Given the description of an element on the screen output the (x, y) to click on. 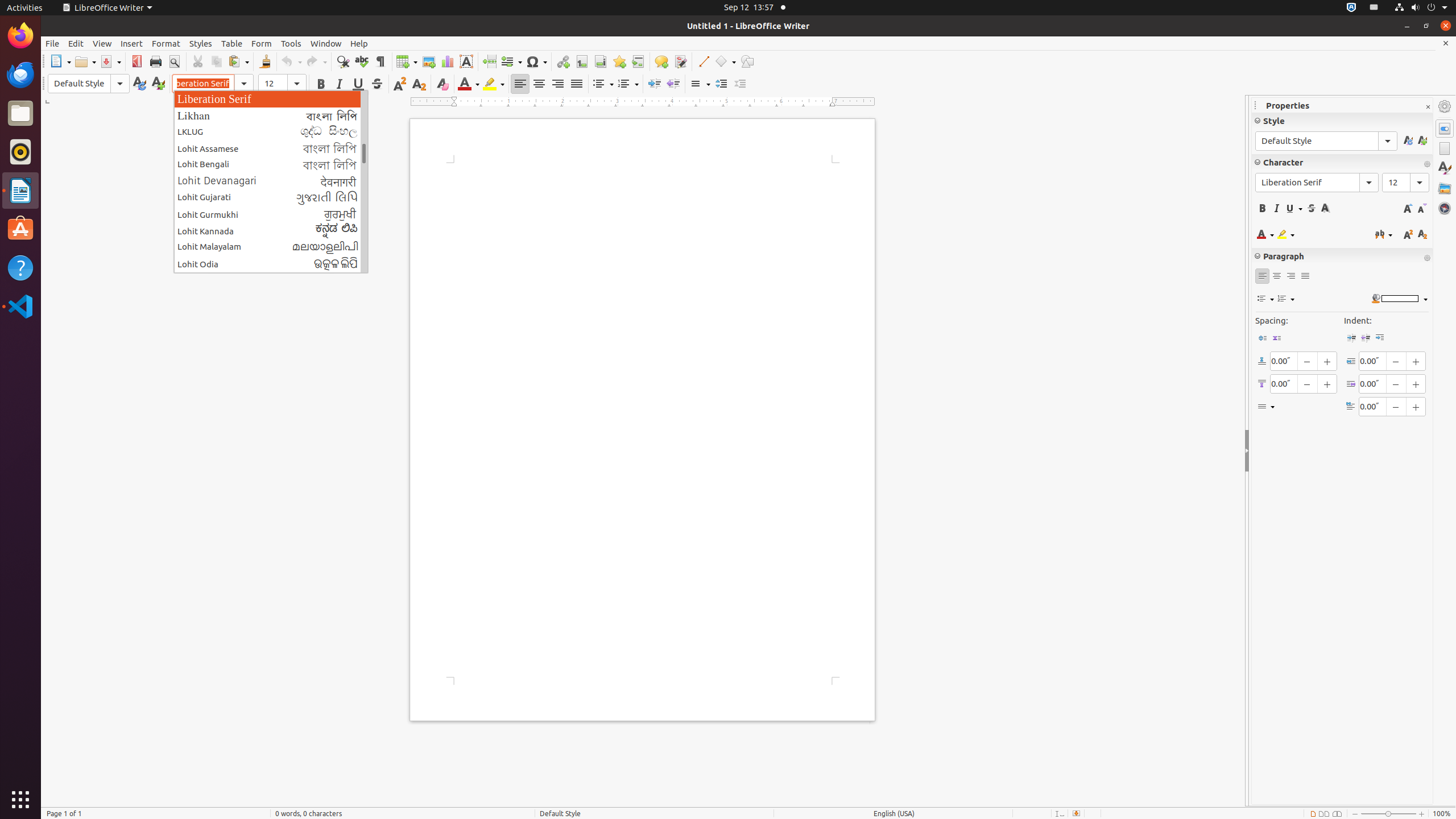
Lohit Kannada Element type: list-item (270, 230)
Lohit Assamese Element type: list-item (270, 147)
New Element type: push-button (157, 83)
Line Spacing Element type: push-button (699, 83)
Lohit Odia Element type: list-item (270, 263)
